Given the description of an element on the screen output the (x, y) to click on. 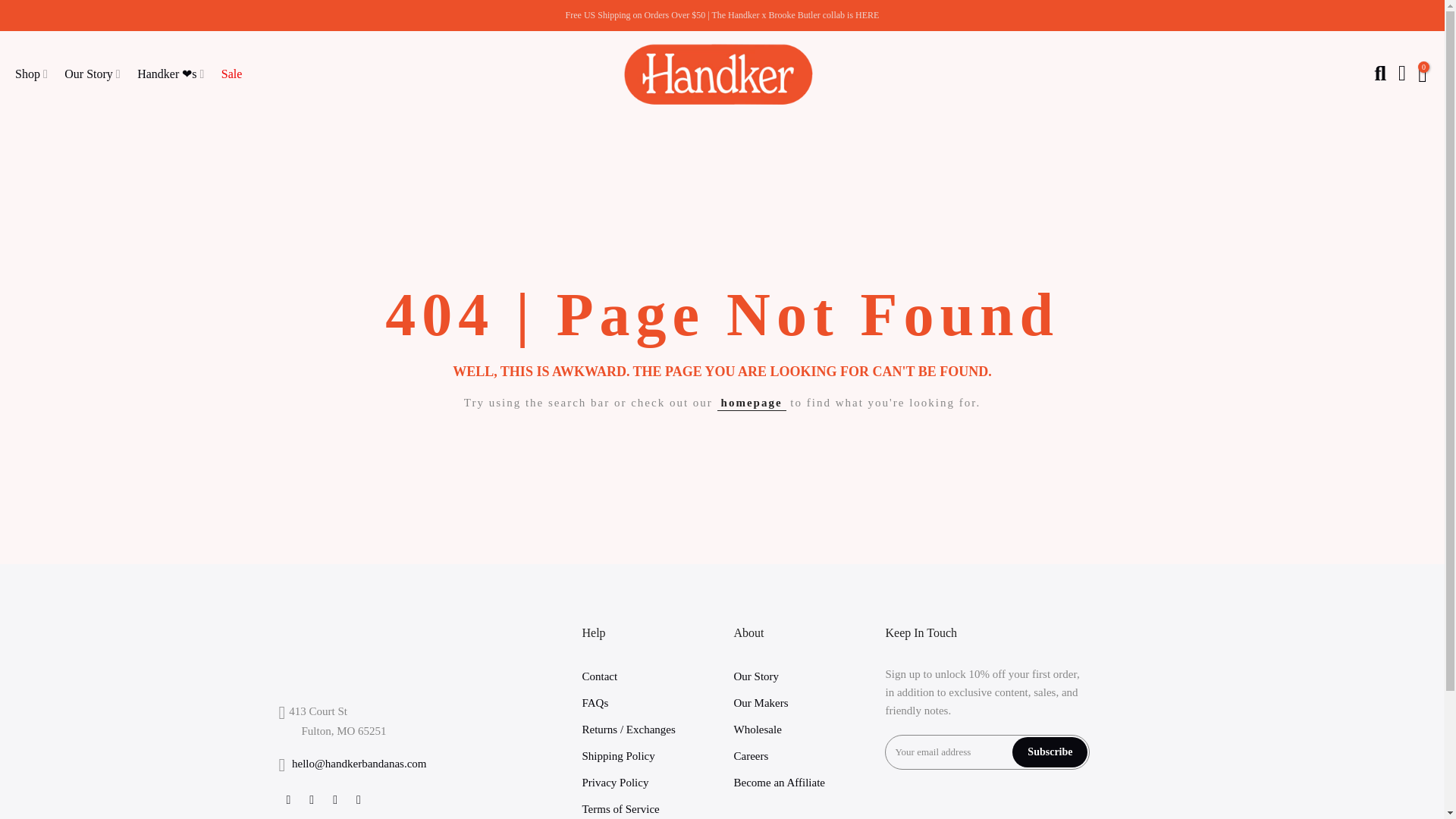
Our Story (97, 74)
